Given the description of an element on the screen output the (x, y) to click on. 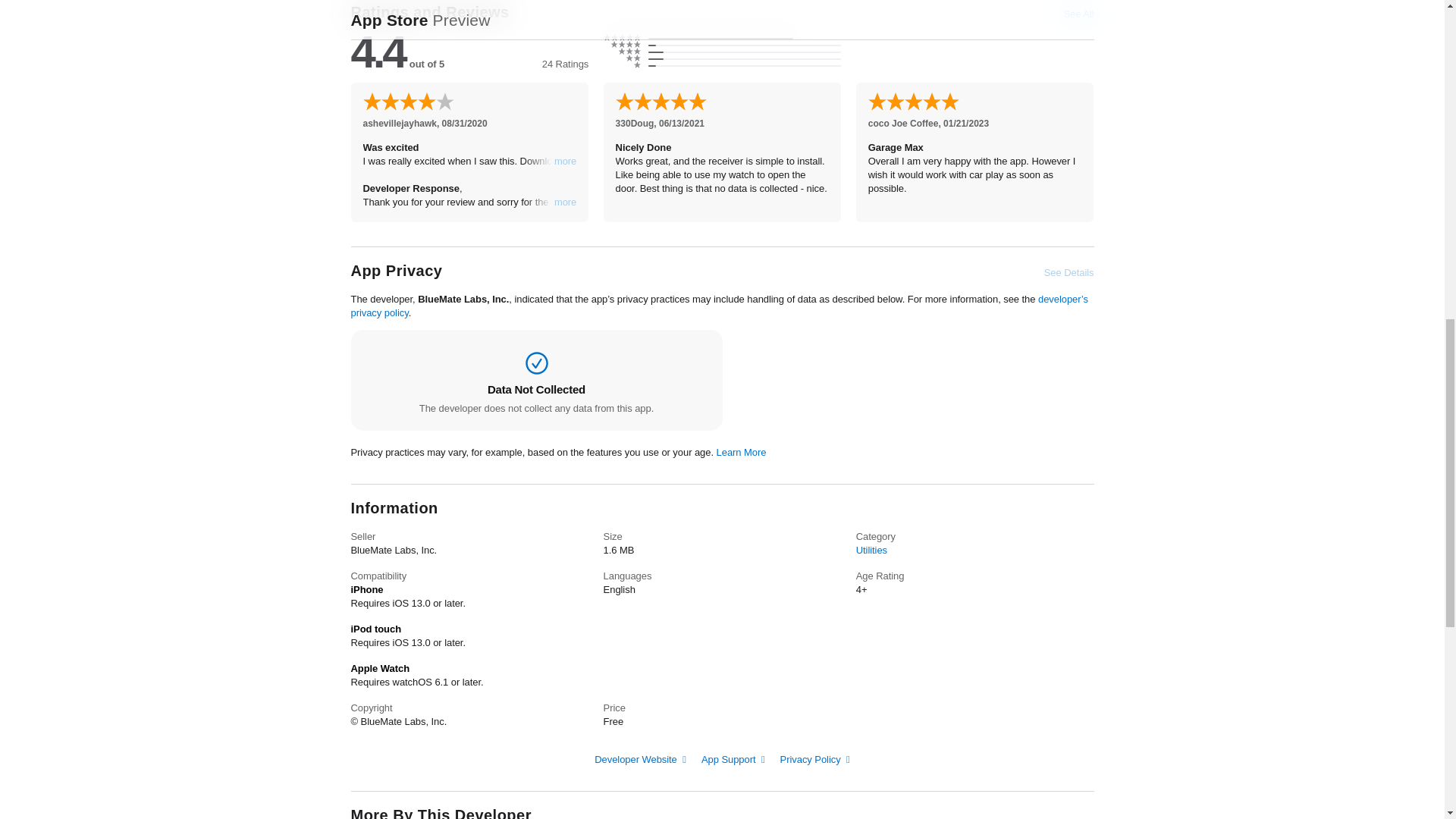
Developer Website (639, 758)
Utilities (871, 550)
Learn More (741, 451)
See Details (1068, 273)
more (565, 202)
See All (1077, 14)
Privacy Policy (815, 758)
App Support (733, 758)
more (565, 161)
